Given the description of an element on the screen output the (x, y) to click on. 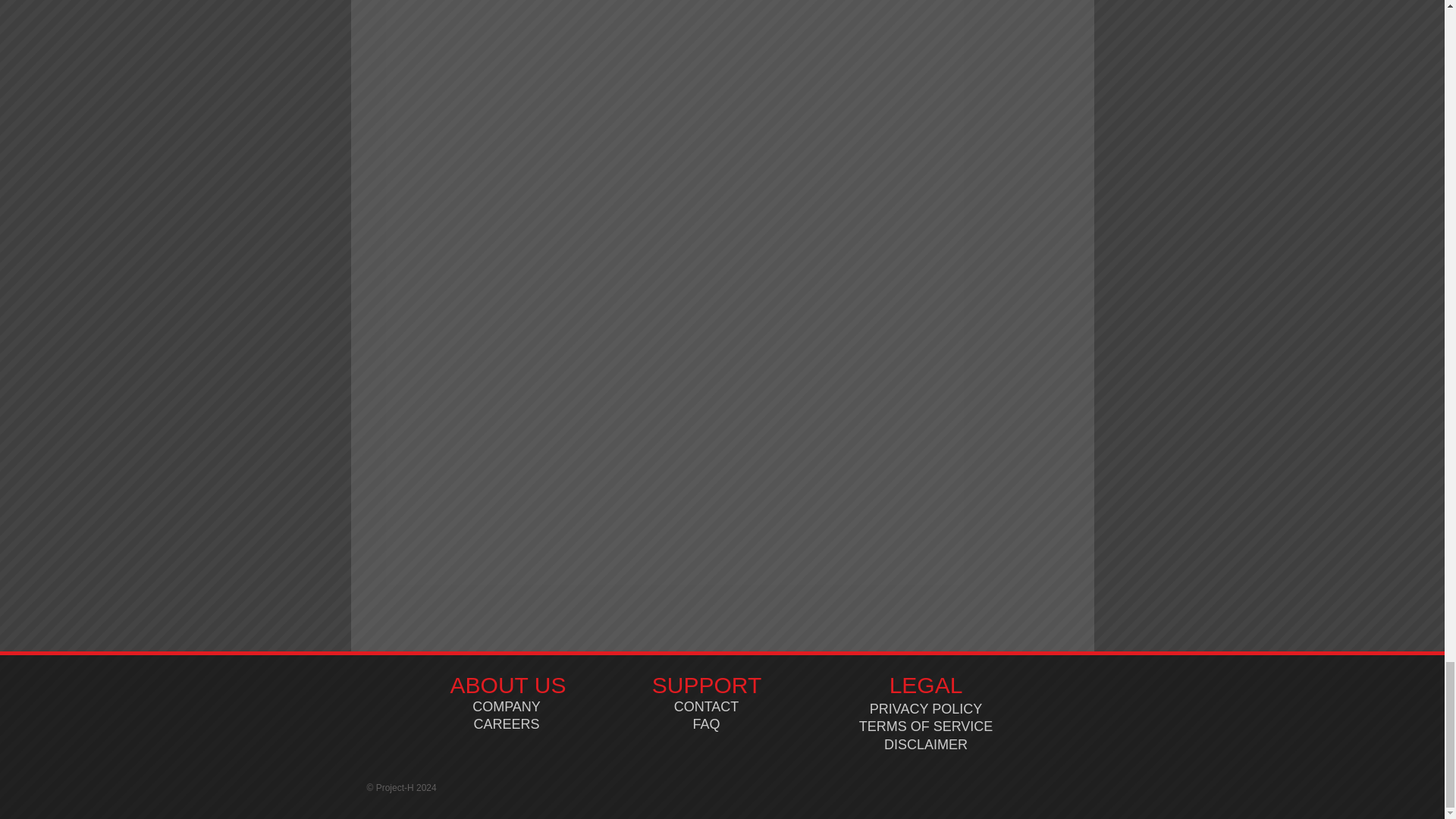
TERMS OF SERVICE (925, 726)
FAQ (706, 724)
COMPANY (505, 706)
CONTACT (706, 706)
DISCLAIMER (925, 744)
CAREERS (505, 724)
PRIVACY POLICY (925, 708)
